Given the description of an element on the screen output the (x, y) to click on. 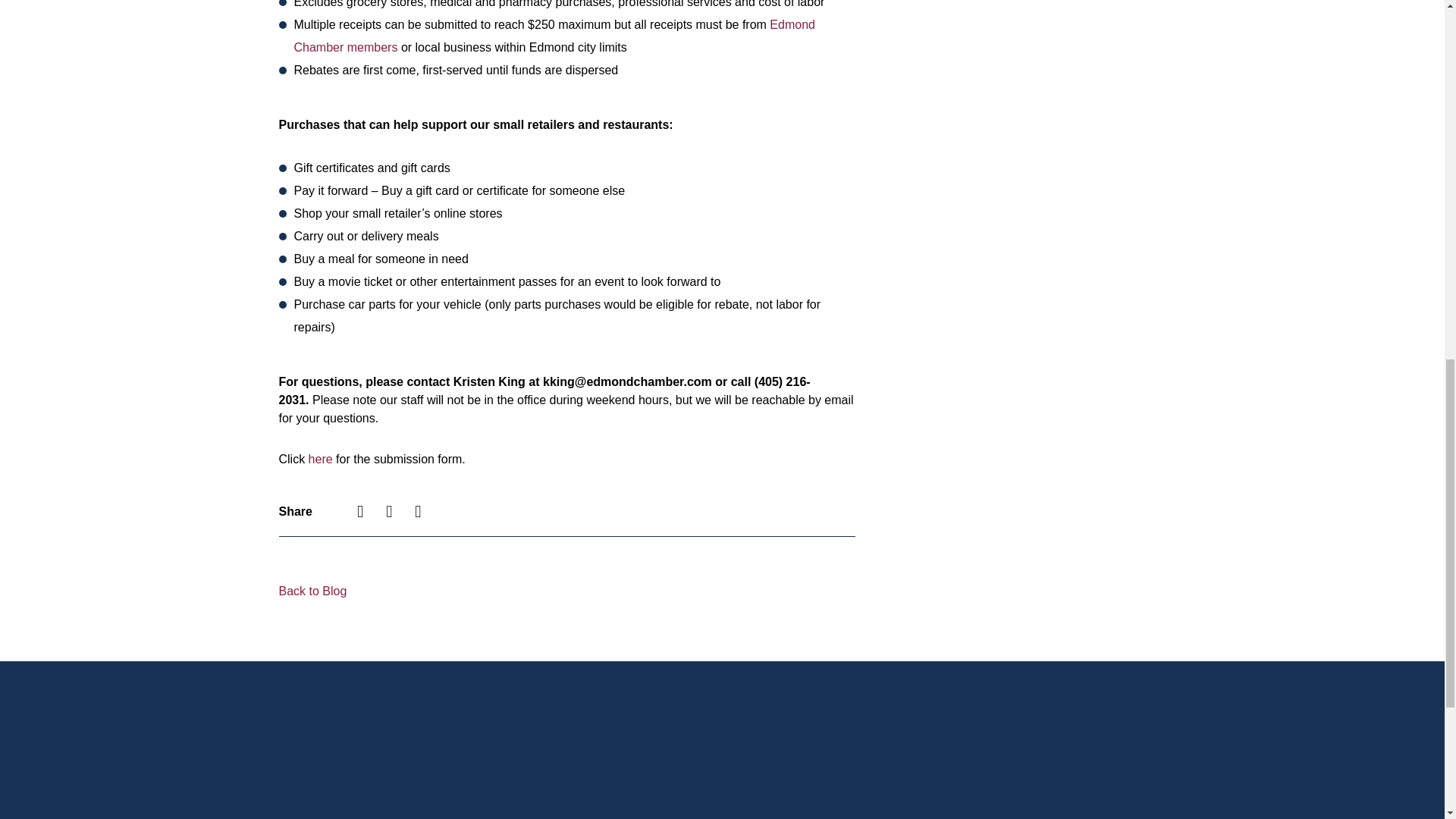
Back to Blog (313, 590)
here (320, 459)
Edmond Chamber members (554, 36)
